Given the description of an element on the screen output the (x, y) to click on. 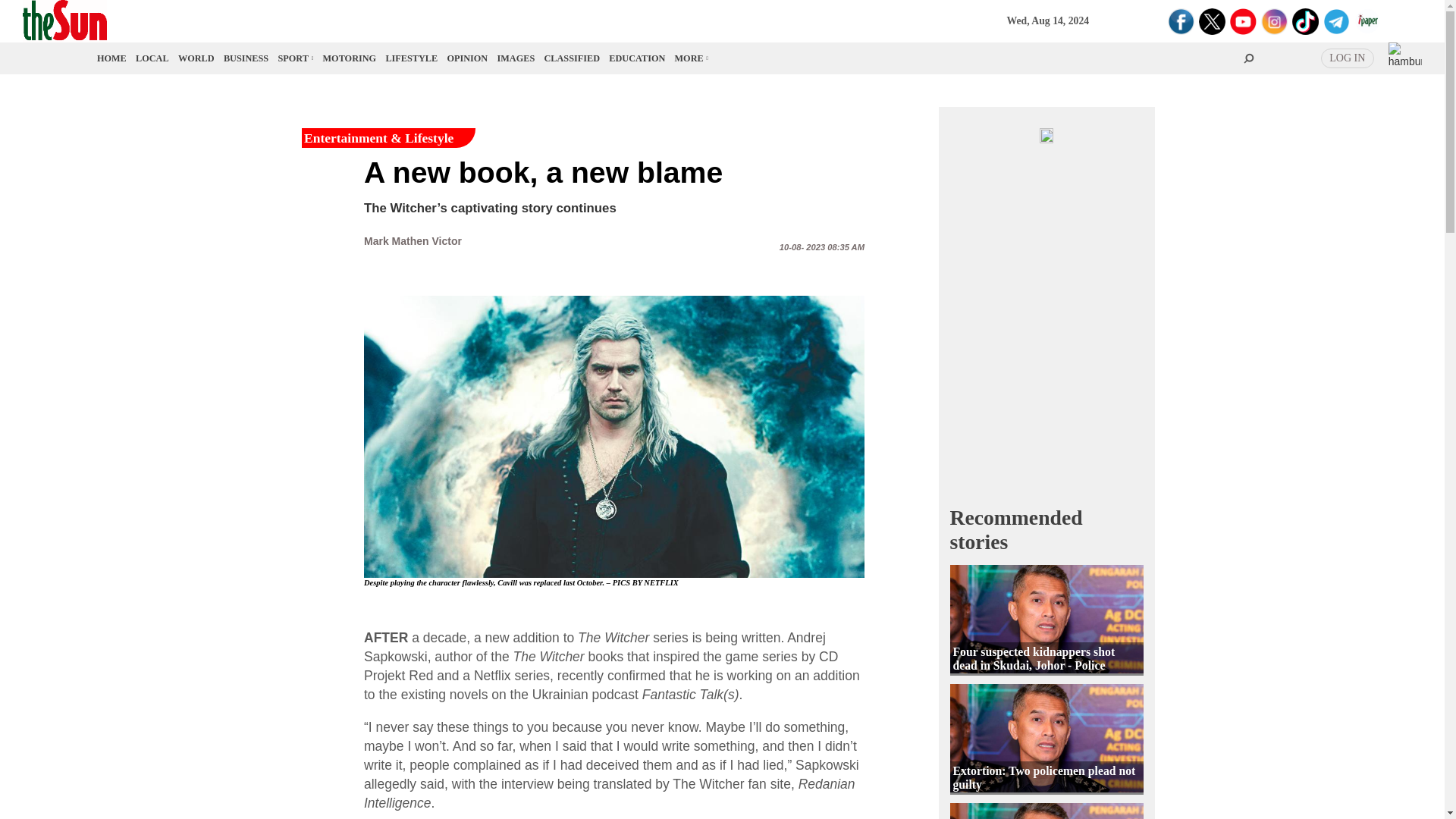
Home (111, 57)
MORE (690, 57)
EDUCATION (636, 57)
IMAGES (516, 57)
CLASSIFIED (571, 57)
LOG IN (1347, 57)
SPORT (294, 57)
LOCAL (151, 57)
BUSINESS (245, 57)
MOTORING (350, 57)
